Given the description of an element on the screen output the (x, y) to click on. 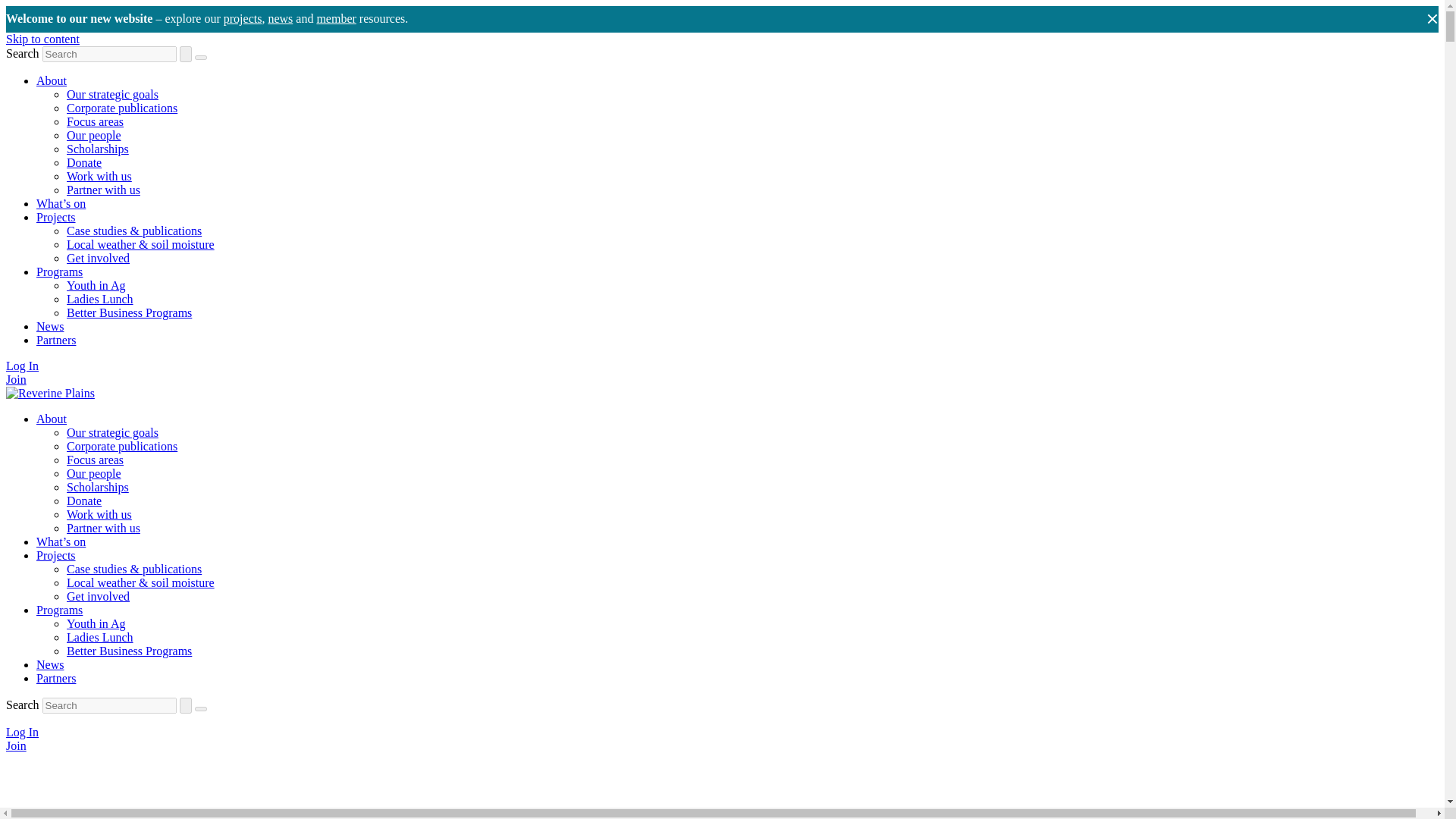
Ladies Lunch (99, 298)
Scholarships (97, 486)
Corporate publications (121, 107)
Youth in Ag (95, 285)
Partners (55, 339)
member (335, 18)
Programs (59, 271)
Scholarships (97, 148)
Join (15, 379)
Projects (55, 216)
Better Business Programs (129, 312)
Partner with us (102, 527)
Partner with us (102, 189)
About (51, 418)
Our people (93, 134)
